Given the description of an element on the screen output the (x, y) to click on. 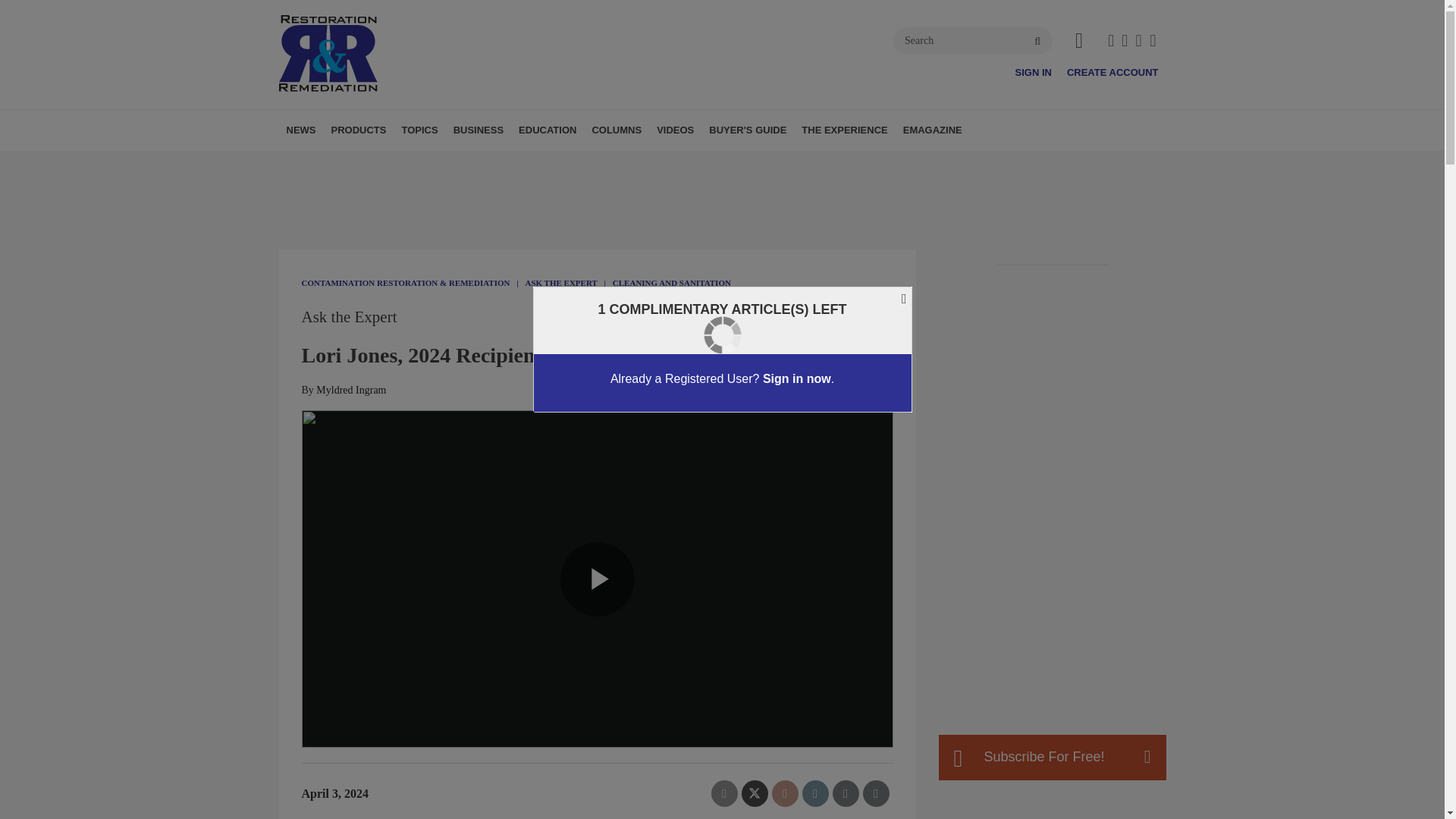
SPONSOR INSIGHTS (633, 163)
MOLD (501, 163)
PODCASTS (612, 163)
WEBINARS (619, 163)
SIGN IN (1032, 71)
CONTAMINATION (507, 163)
MANAGING YOUR BUSINESS (539, 163)
TOPICS (419, 129)
Search (972, 40)
CONTENTS (516, 163)
